Given the description of an element on the screen output the (x, y) to click on. 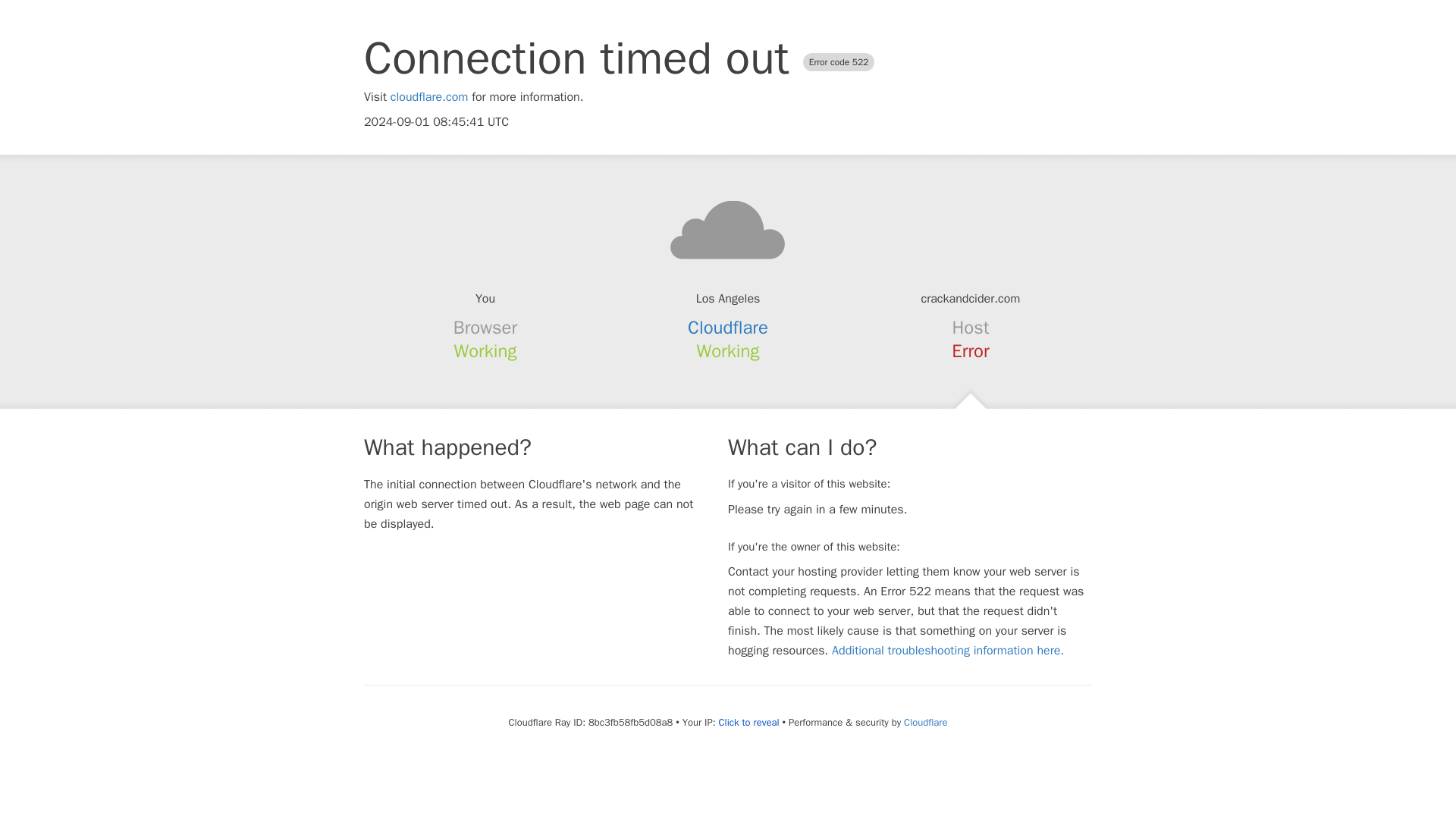
cloudflare.com (429, 96)
Cloudflare (925, 721)
Click to reveal (748, 722)
Additional troubleshooting information here. (947, 650)
Cloudflare (727, 327)
